Given the description of an element on the screen output the (x, y) to click on. 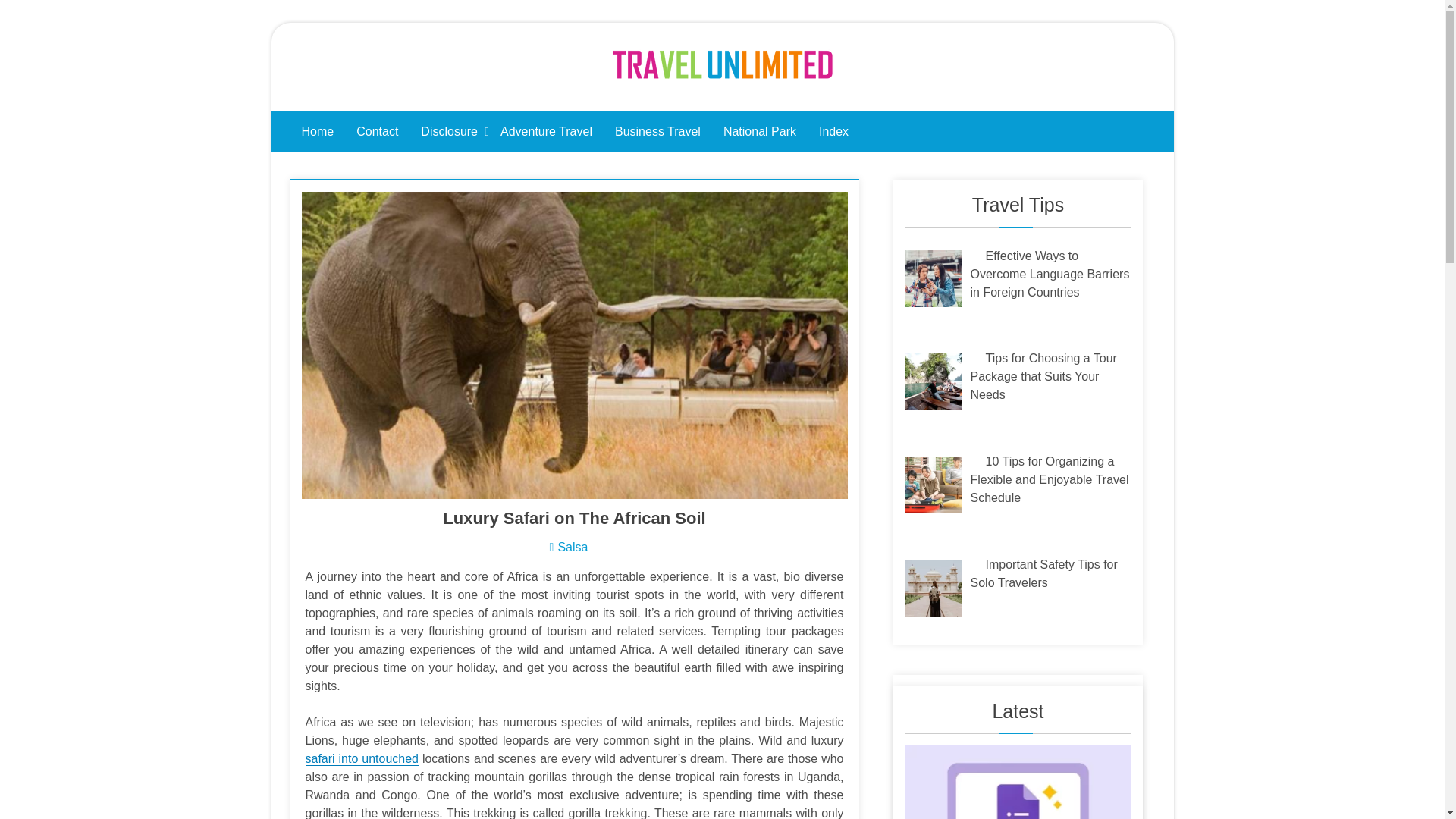
Index (834, 131)
safari into untouched (360, 758)
Important Safety Tips for Solo Travelers (1044, 572)
Contact (377, 131)
Tips for Choosing a Tour Package that Suits Your Needs (1043, 376)
Adventure Travel (546, 131)
Disclosure (449, 131)
